Given the description of an element on the screen output the (x, y) to click on. 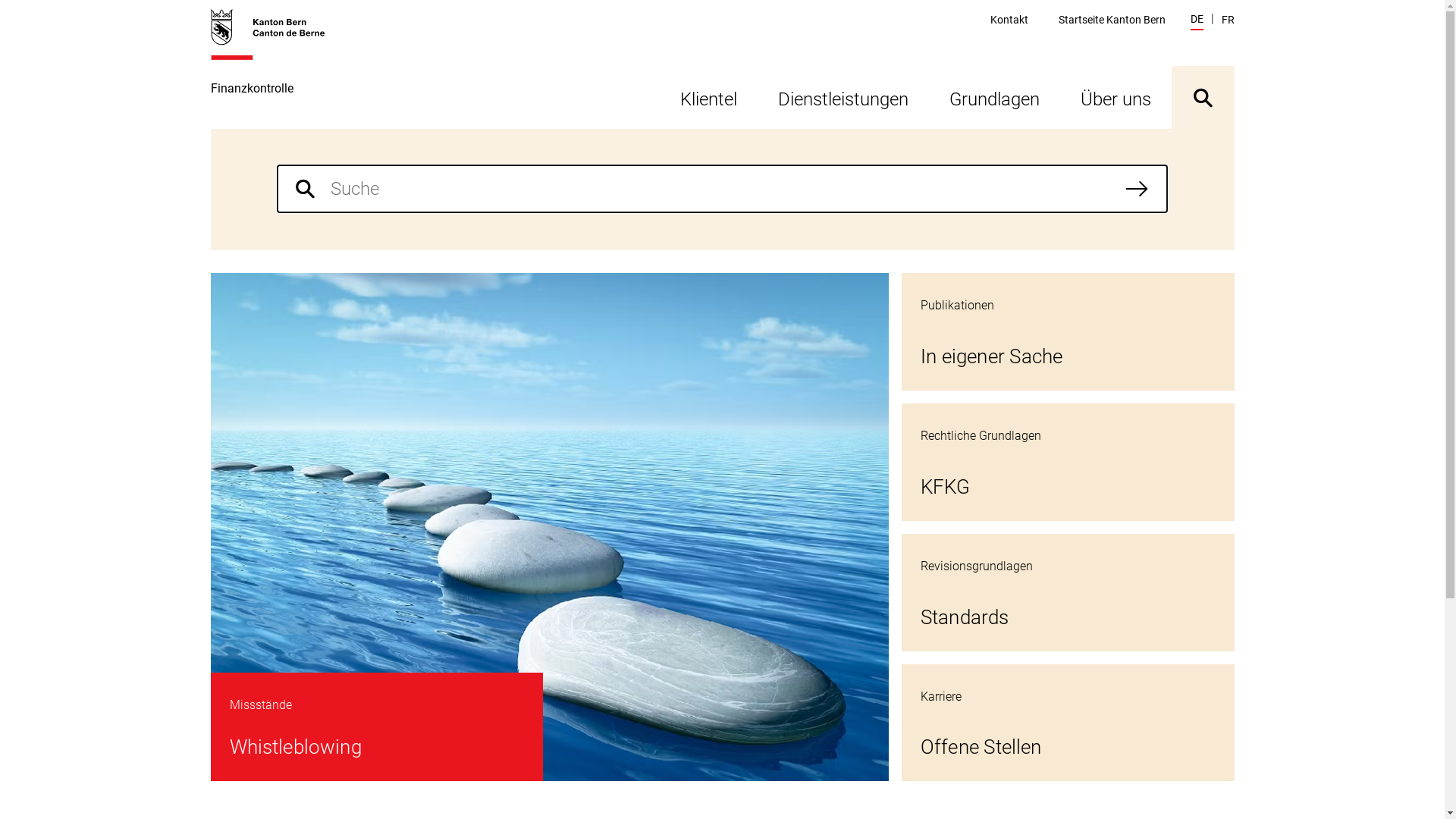
Offene Stellen
Karriere Element type: text (1067, 722)
Kontakt Element type: text (1009, 19)
FR Element type: text (1226, 19)
Grundlagen Element type: text (993, 96)
In eigener Sache
Publikationen Element type: text (1067, 331)
Suche ein- oder ausblenden Element type: text (1201, 96)
Finanzkontrolle Element type: text (275, 68)
Dienstleistungen Element type: text (842, 96)
Standards
Revisionsgrundlagen Element type: text (1067, 592)
Suchen Element type: text (1136, 188)
Klientel Element type: text (708, 96)
KFKG
Rechtliche Grundlagen Element type: text (1067, 461)
Startseite Kanton Bern Element type: text (1111, 19)
DE Element type: text (1196, 21)
